Given the description of an element on the screen output the (x, y) to click on. 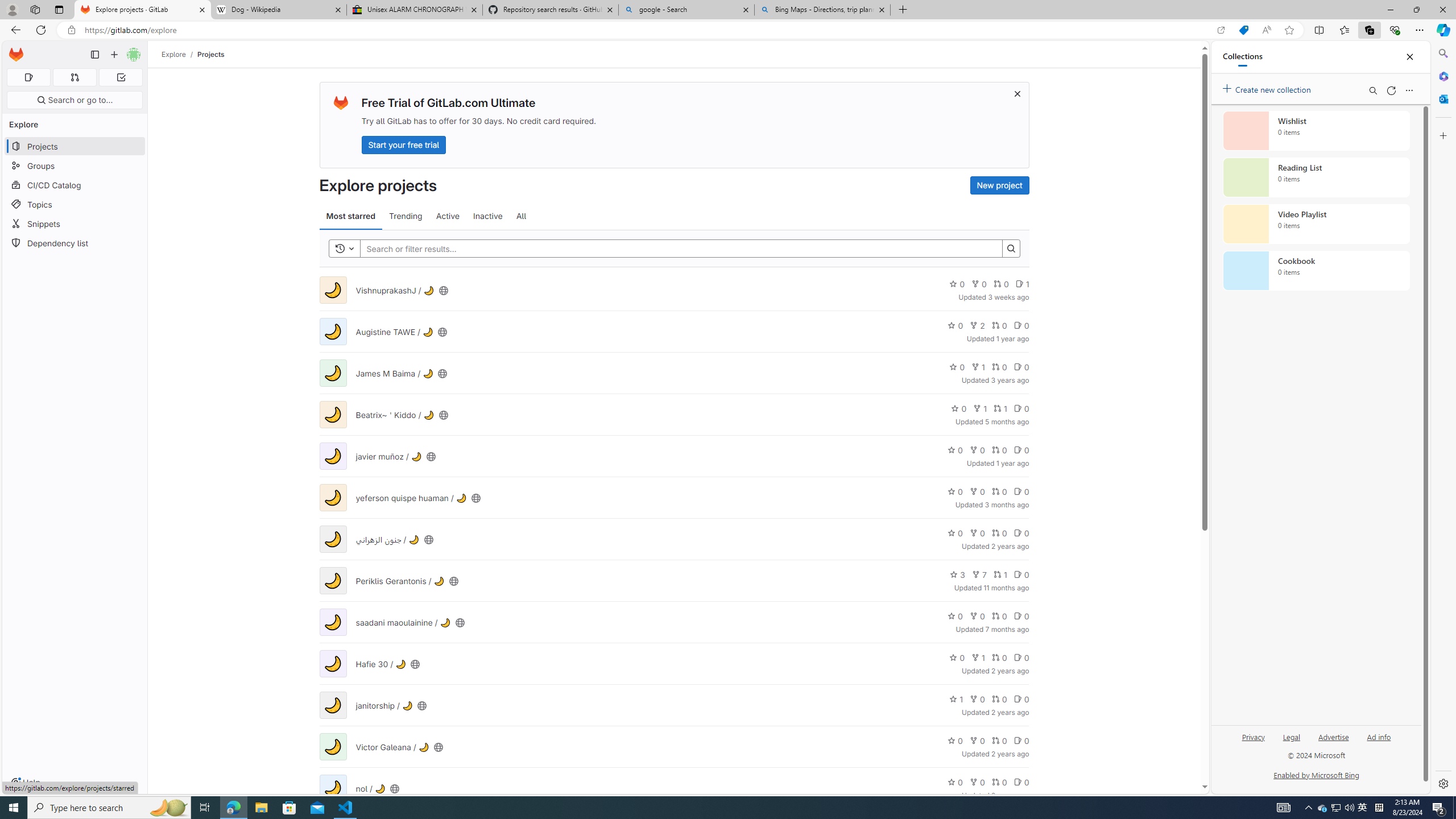
Help (25, 782)
Ad info (1378, 741)
Explore/ (179, 53)
Side bar (1443, 418)
Inactive (487, 216)
Class: s16 (395, 788)
